Given the description of an element on the screen output the (x, y) to click on. 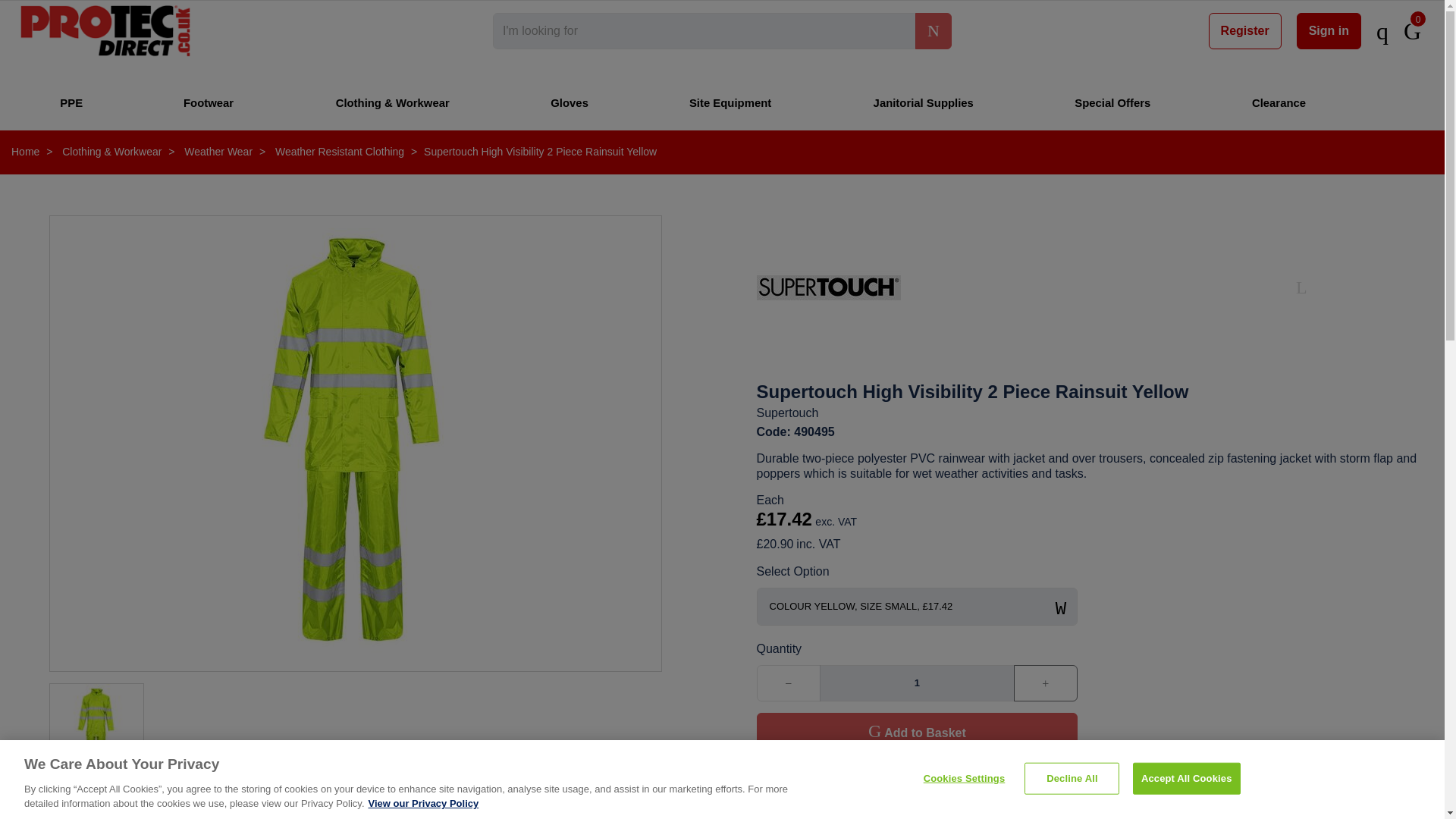
1 (916, 683)
Register (1244, 31)
PPE (72, 101)
Sign in (1329, 31)
PPE (72, 101)
Protec Direct (105, 30)
